Given the description of an element on the screen output the (x, y) to click on. 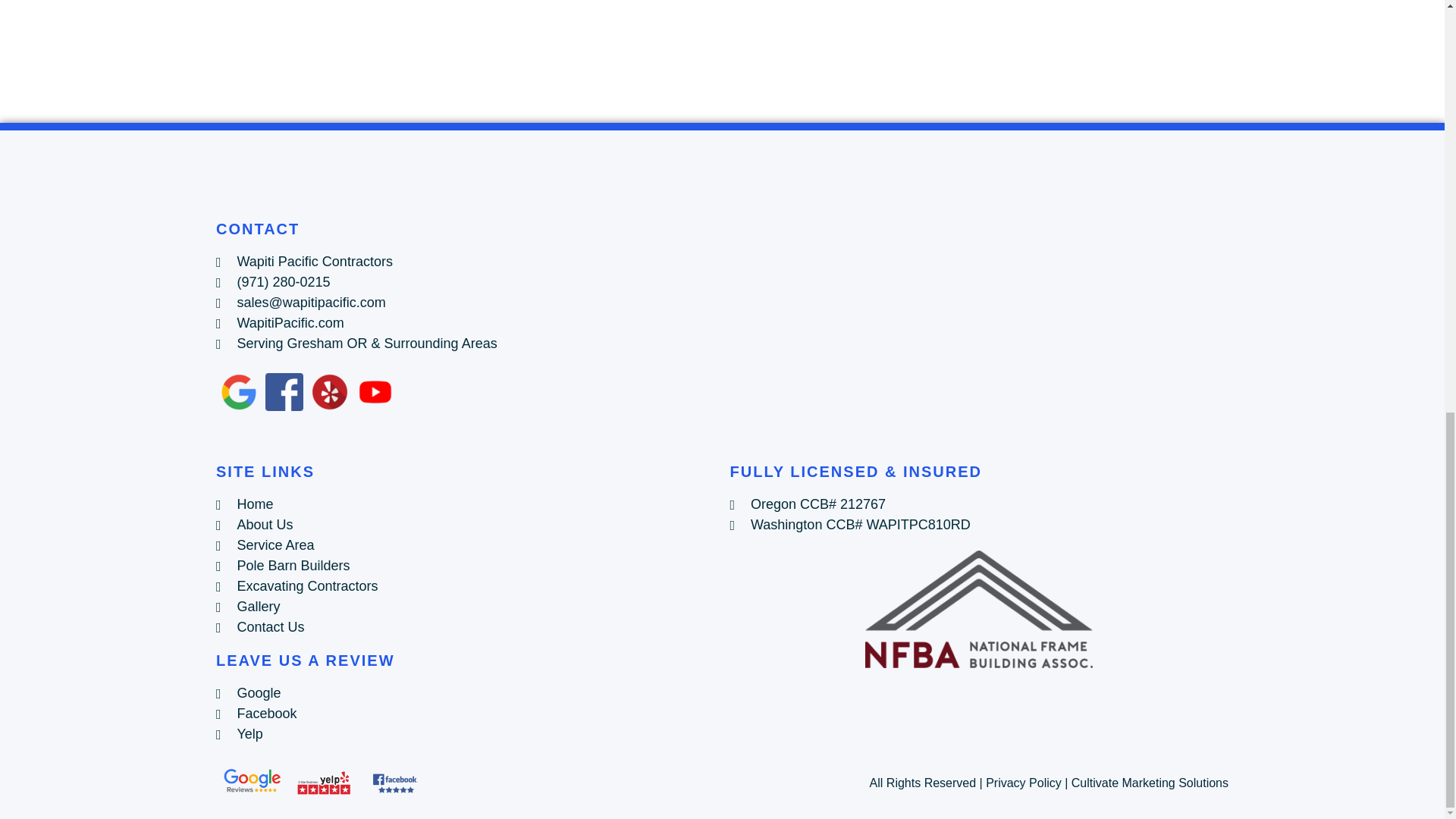
Molalla, Oregon (722, 57)
Wapiti Pacific Contractors Gresham OR (978, 334)
facebook.png (283, 392)
youtube icon (375, 392)
yelp.png (330, 392)
google.png (238, 392)
